Given the description of an element on the screen output the (x, y) to click on. 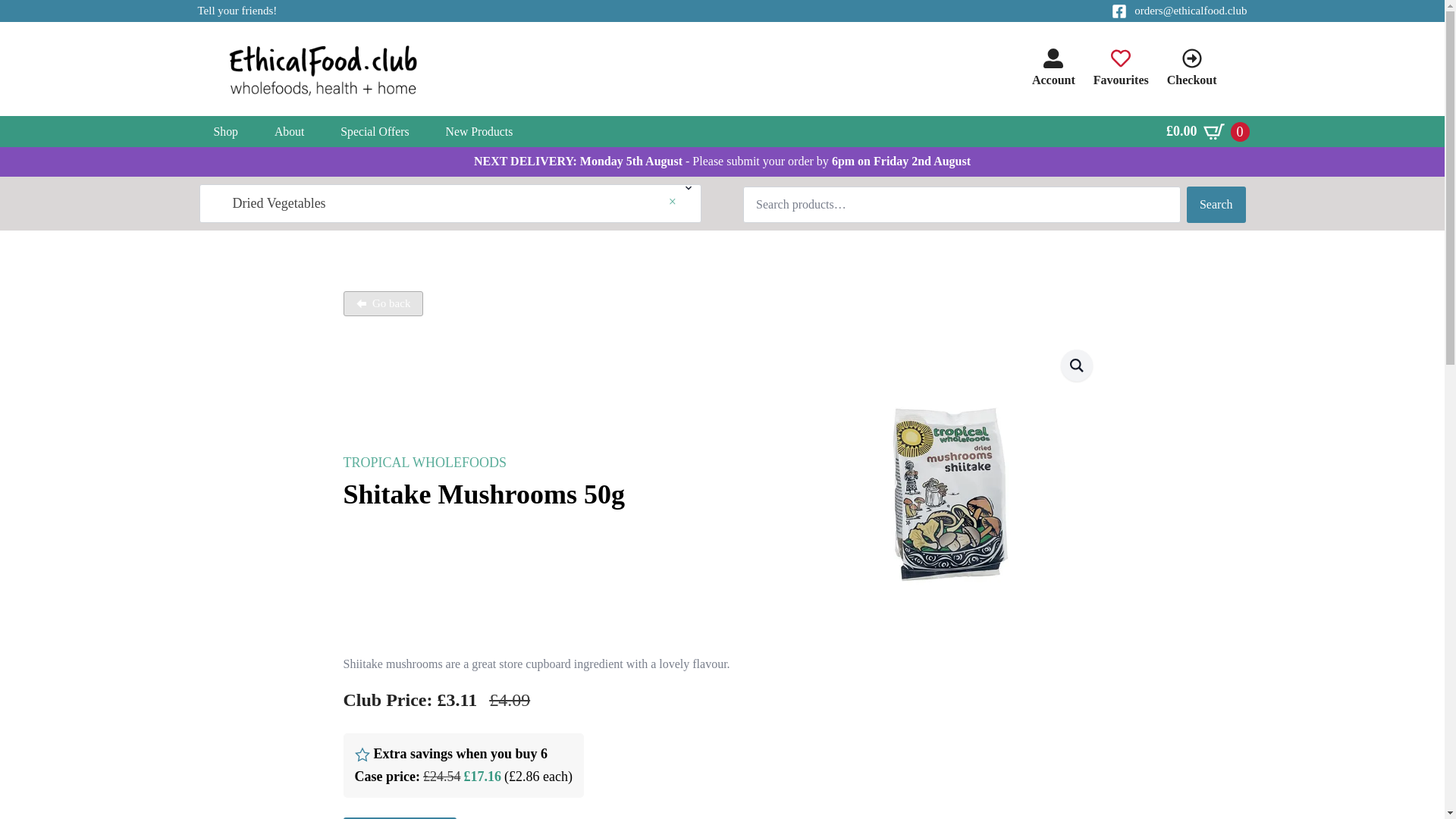
Favourites (1120, 68)
New Products (479, 131)
Special Offers (373, 131)
Login To Order (399, 818)
Tropical Wholefoods Shitake Mushrooms 50g 1 (948, 491)
Account (1053, 68)
TROPICAL WHOLEFOODS (424, 462)
Search (1216, 204)
Go back (382, 303)
Checkout (1192, 68)
About (288, 131)
Shop (225, 131)
